Given the description of an element on the screen output the (x, y) to click on. 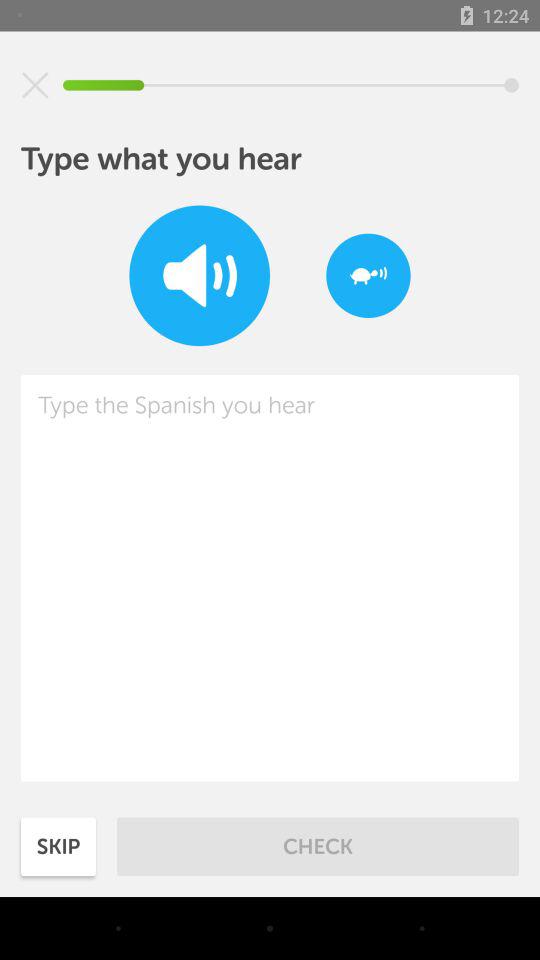
press the icon next to check (58, 846)
